Given the description of an element on the screen output the (x, y) to click on. 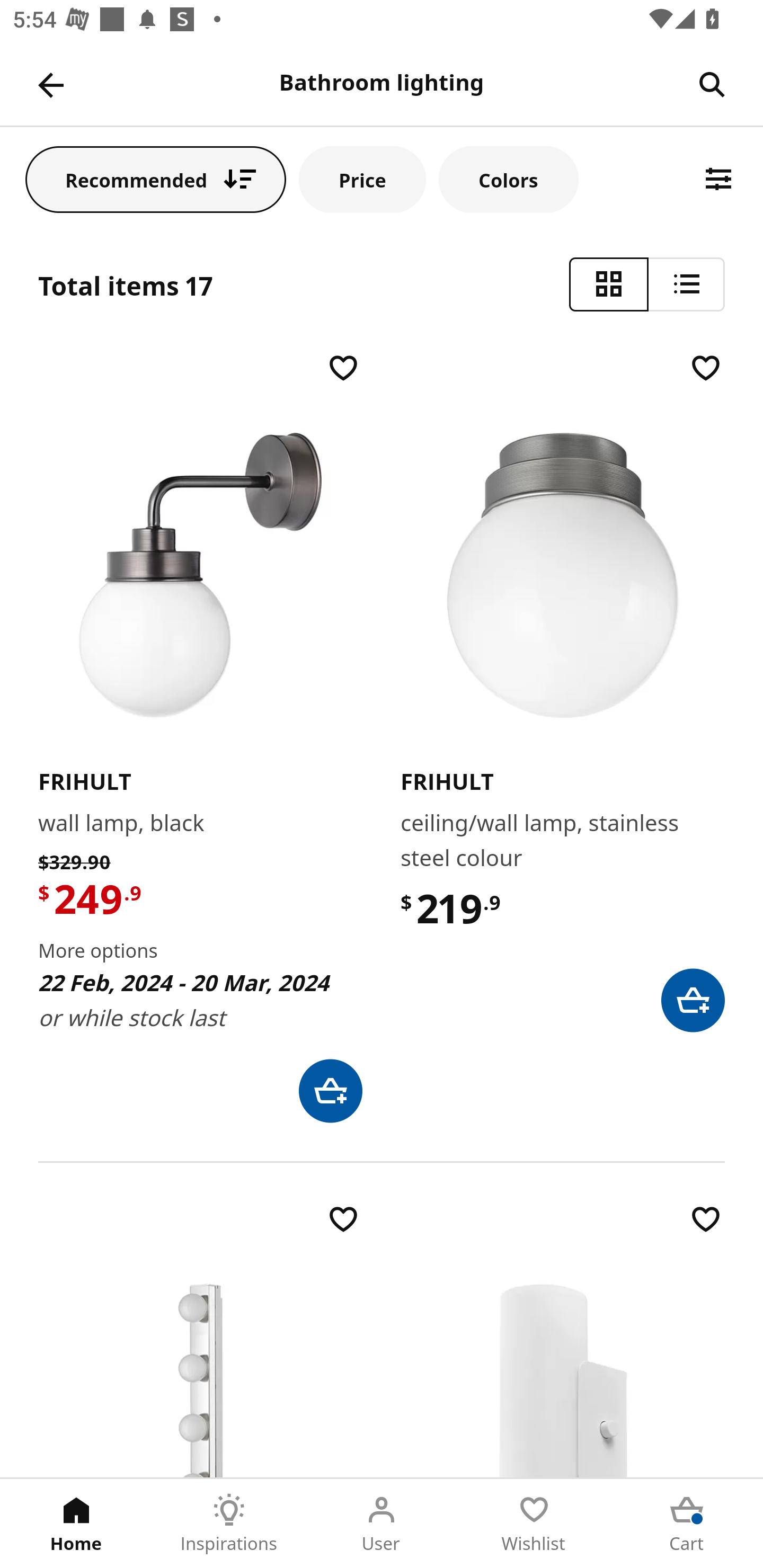
Recommended (155, 179)
Price (362, 179)
Colors (508, 179)
Home
Tab 1 of 5 (76, 1522)
Inspirations
Tab 2 of 5 (228, 1522)
User
Tab 3 of 5 (381, 1522)
Wishlist
Tab 4 of 5 (533, 1522)
Cart
Tab 5 of 5 (686, 1522)
